Given the description of an element on the screen output the (x, y) to click on. 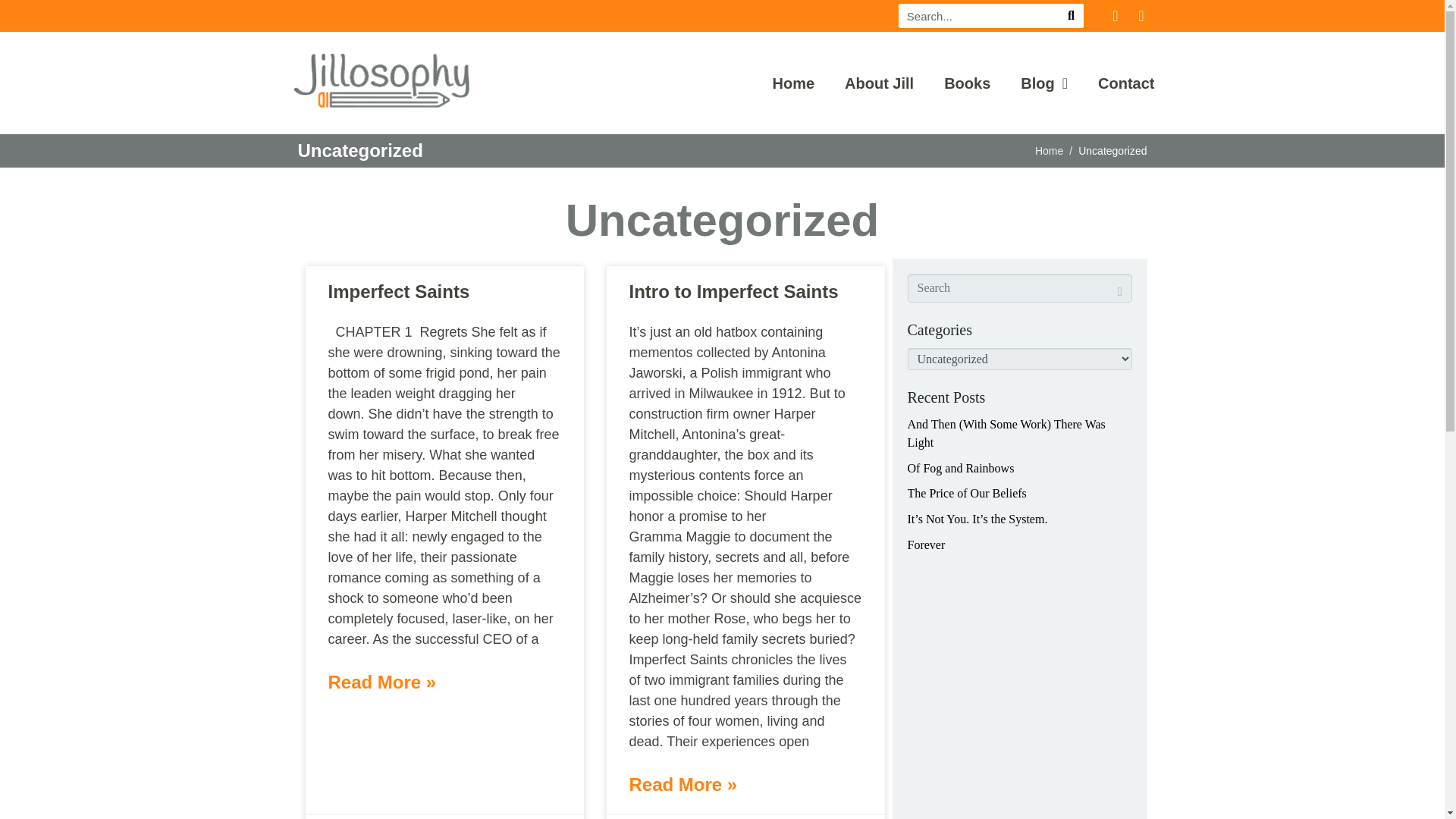
About Jill (879, 83)
Intro to Imperfect Saints (733, 291)
Of Fog and Rainbows (960, 468)
Imperfect Saints (397, 291)
Blog (1043, 83)
Home (1048, 150)
Forever (925, 544)
Contact (1125, 83)
Books (966, 83)
The Price of Our Beliefs (966, 492)
Home (792, 83)
